Given the description of an element on the screen output the (x, y) to click on. 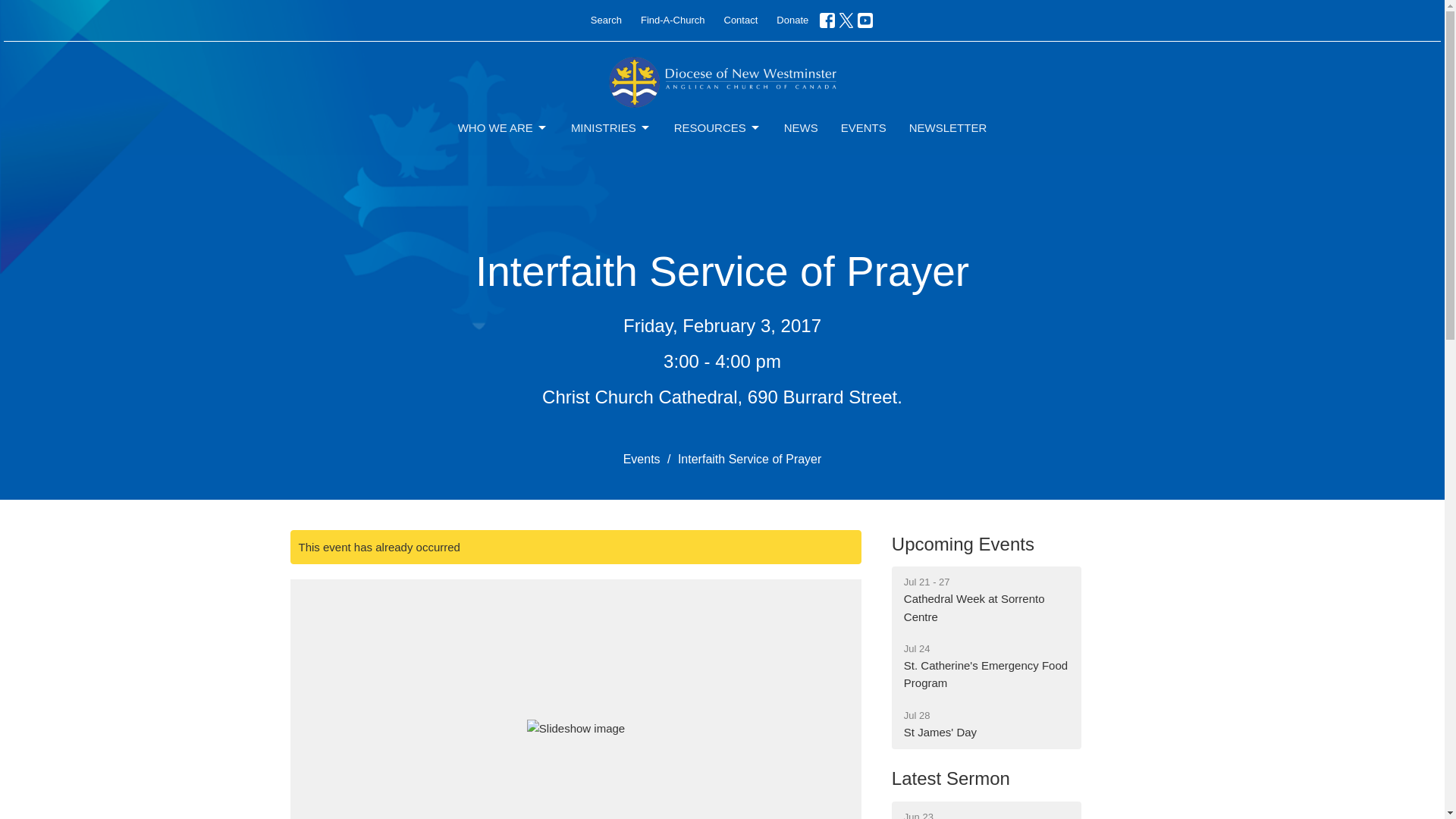
Find-A-Church (673, 20)
MINISTRIES (610, 127)
RESOURCES (717, 127)
NEWS (801, 127)
Contact (740, 20)
WHO WE ARE (503, 127)
NEWSLETTER (947, 127)
Donate (791, 20)
EVENTS (863, 127)
Upcoming Events (962, 543)
Events (642, 459)
Search (605, 20)
